Given the description of an element on the screen output the (x, y) to click on. 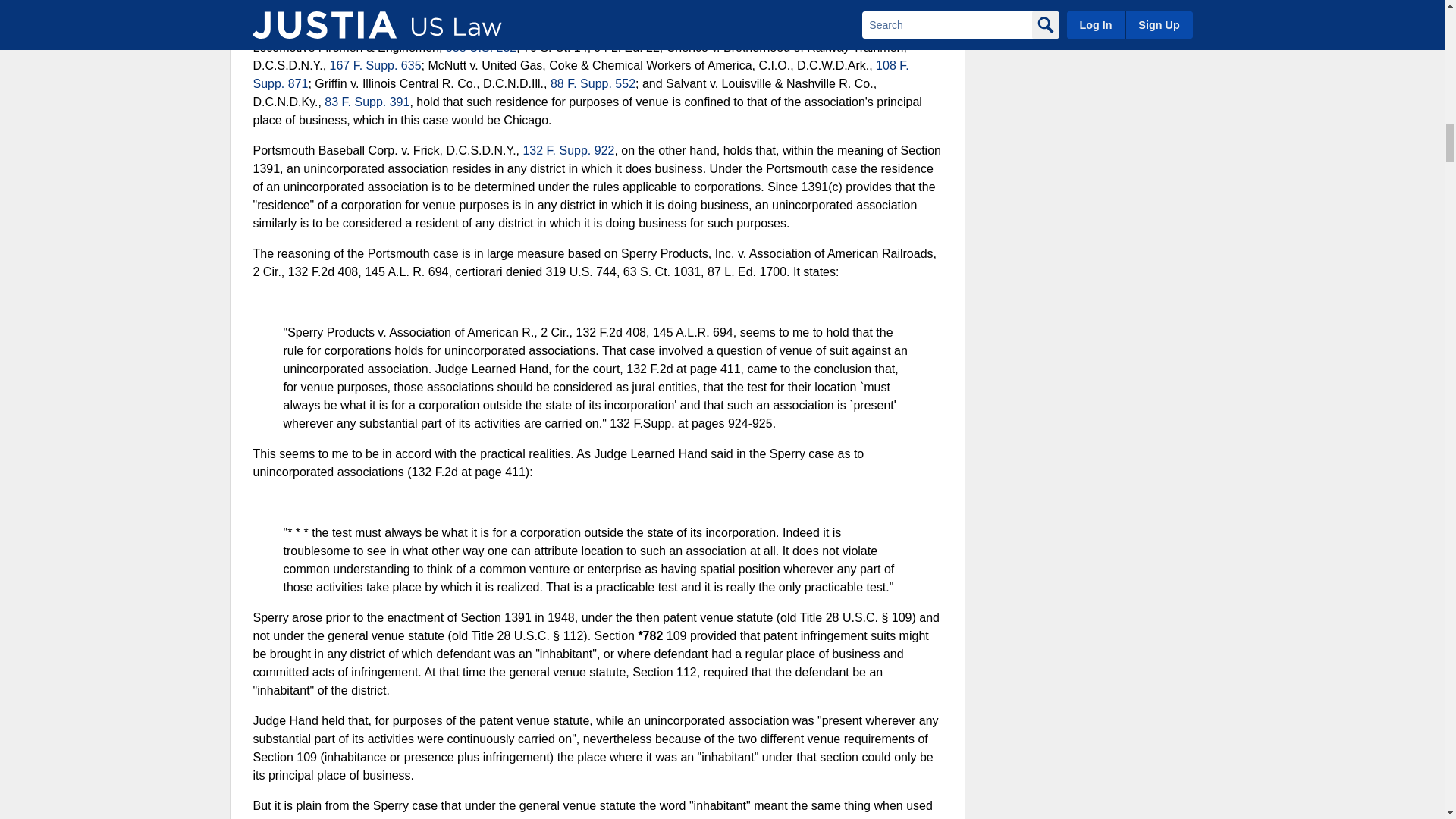
83 F. Supp. 391 (366, 101)
338 U.S. 232 (480, 47)
108 F. Supp. 871 (580, 74)
167 F. Supp. 635 (376, 65)
88 F. Supp. 552 (592, 83)
